Given the description of an element on the screen output the (x, y) to click on. 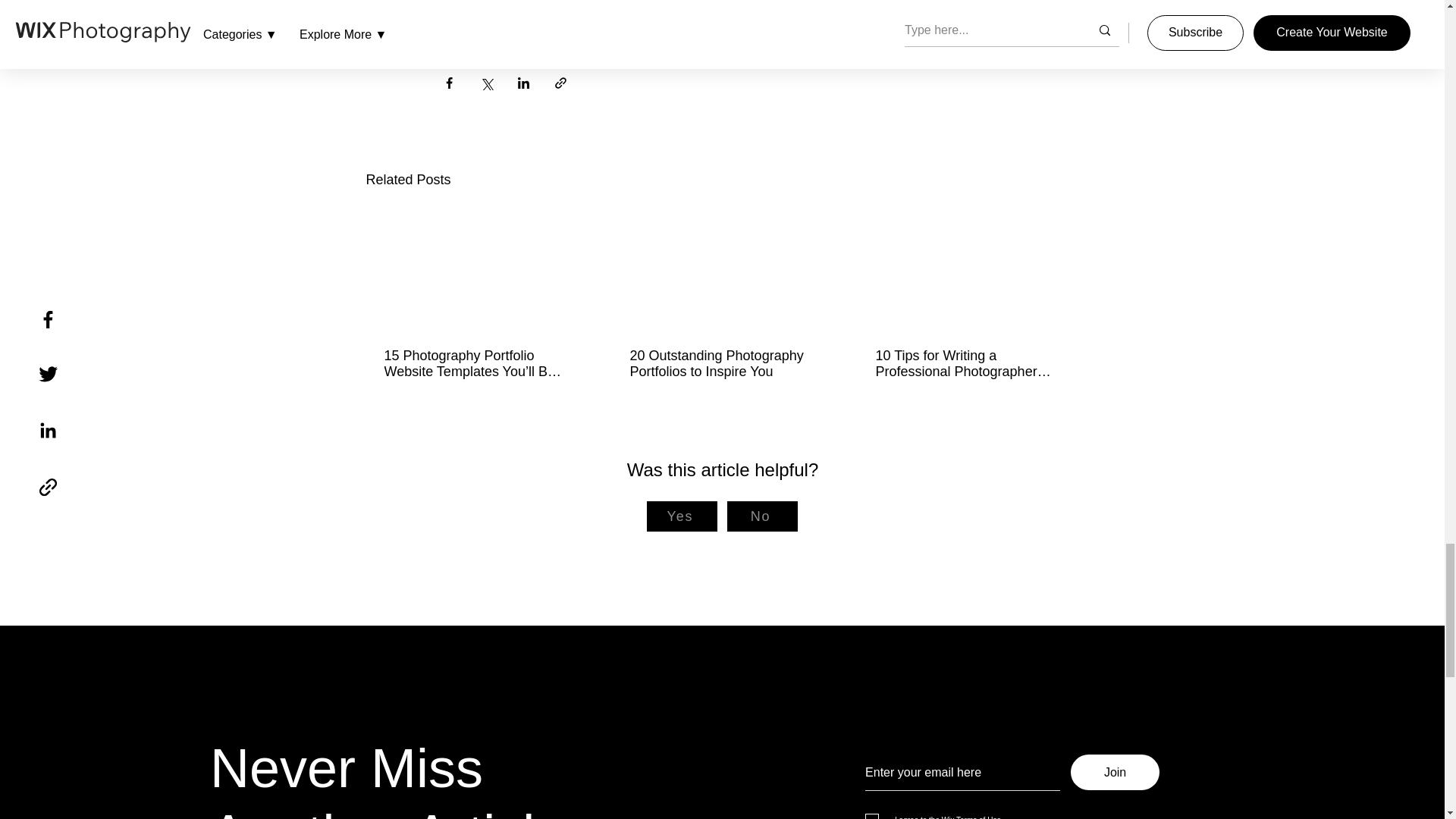
Yes (681, 516)
Join (1114, 772)
No (761, 516)
20 Outstanding Photography Portfolios to Inspire You (720, 364)
Wix Terms of Use (970, 817)
